Given the description of an element on the screen output the (x, y) to click on. 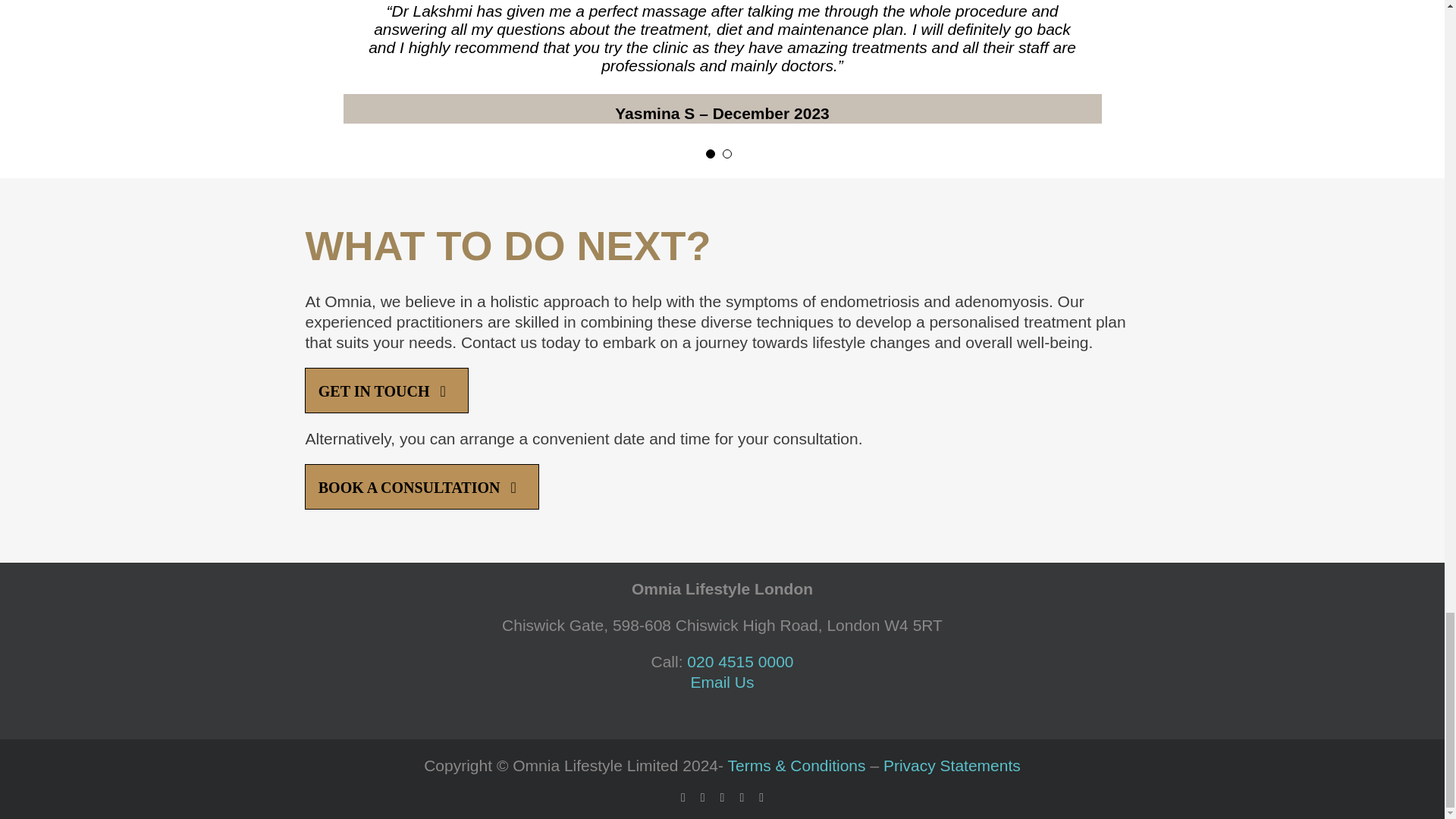
Book a Consultation (421, 486)
Get in touch (385, 390)
